Given the description of an element on the screen output the (x, y) to click on. 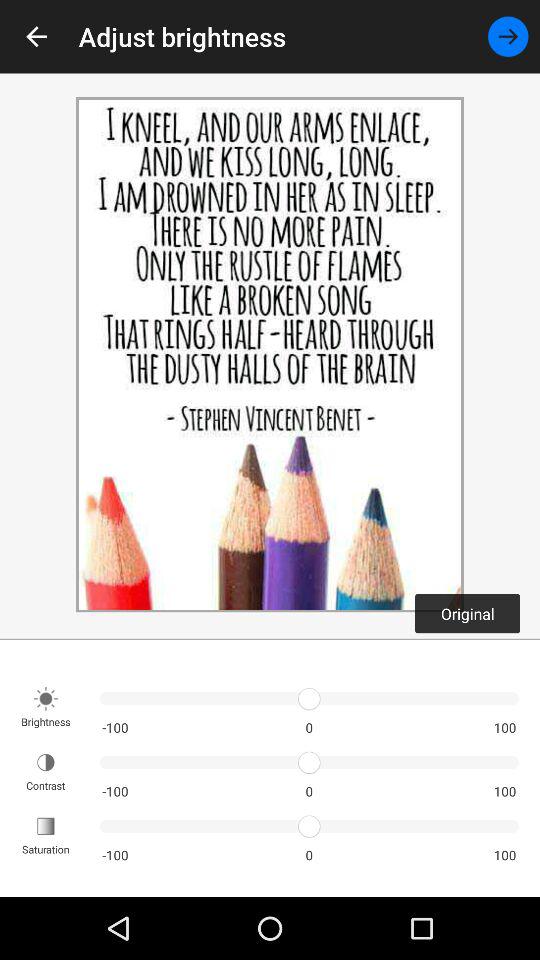
click the item next to the adjust brightness icon (508, 36)
